Given the description of an element on the screen output the (x, y) to click on. 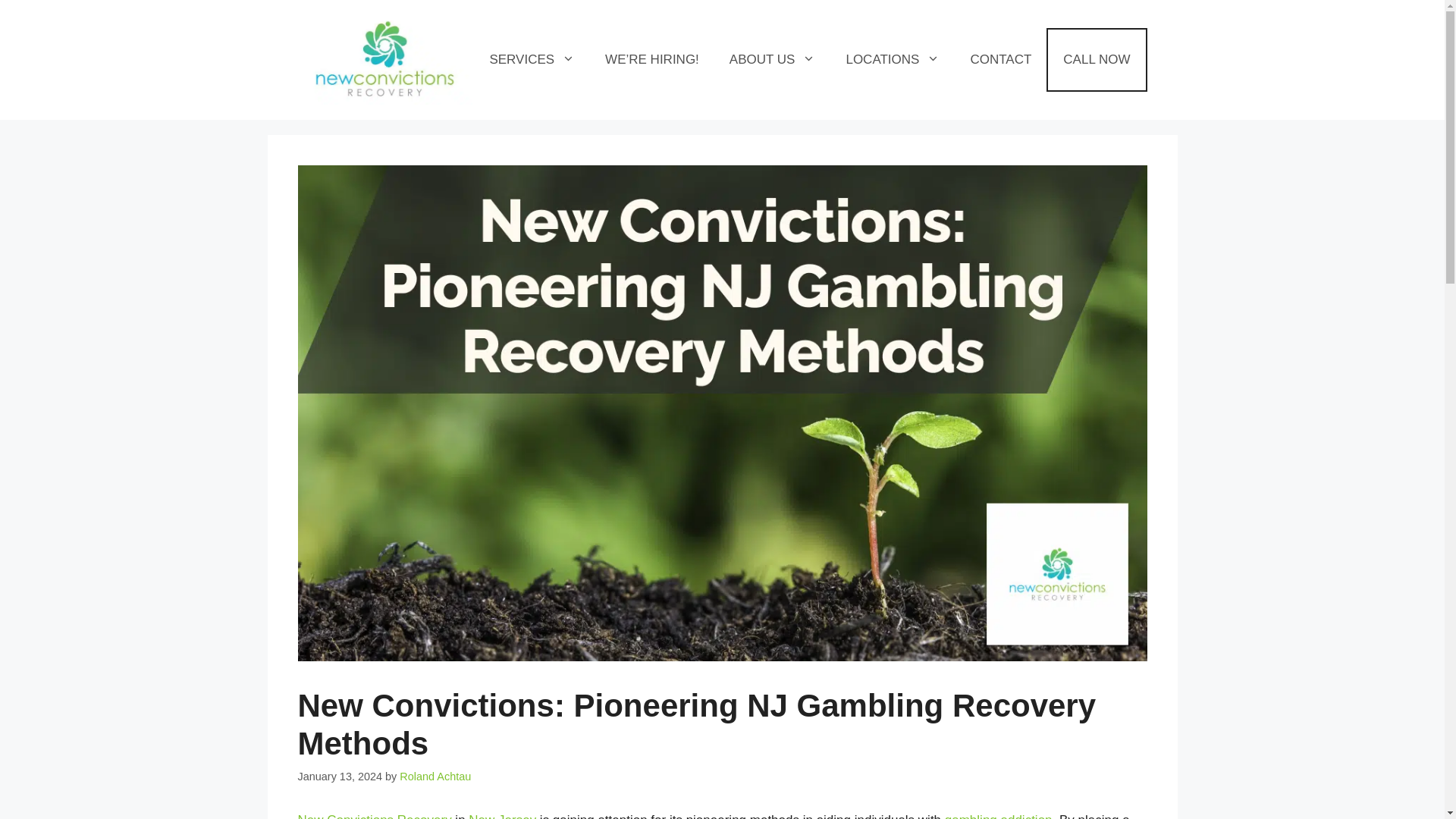
LOCATIONS (892, 59)
View all posts by Roland Achtau (434, 776)
CALL NOW (1096, 59)
SERVICES (531, 59)
ABOUT US (772, 59)
CONTACT (1000, 59)
